Given the description of an element on the screen output the (x, y) to click on. 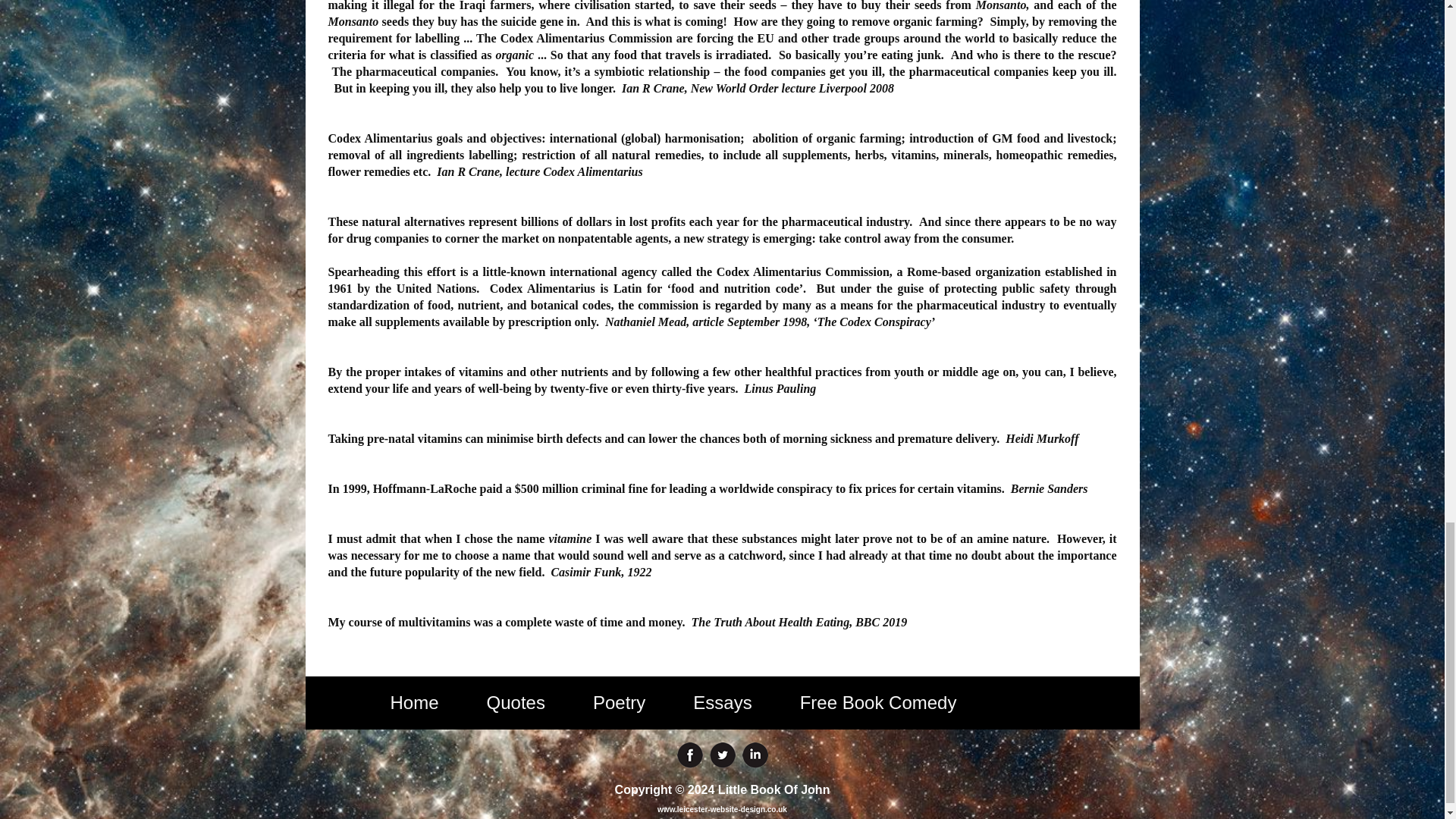
www.leicester-website-design.co.uk (722, 809)
